Given the description of an element on the screen output the (x, y) to click on. 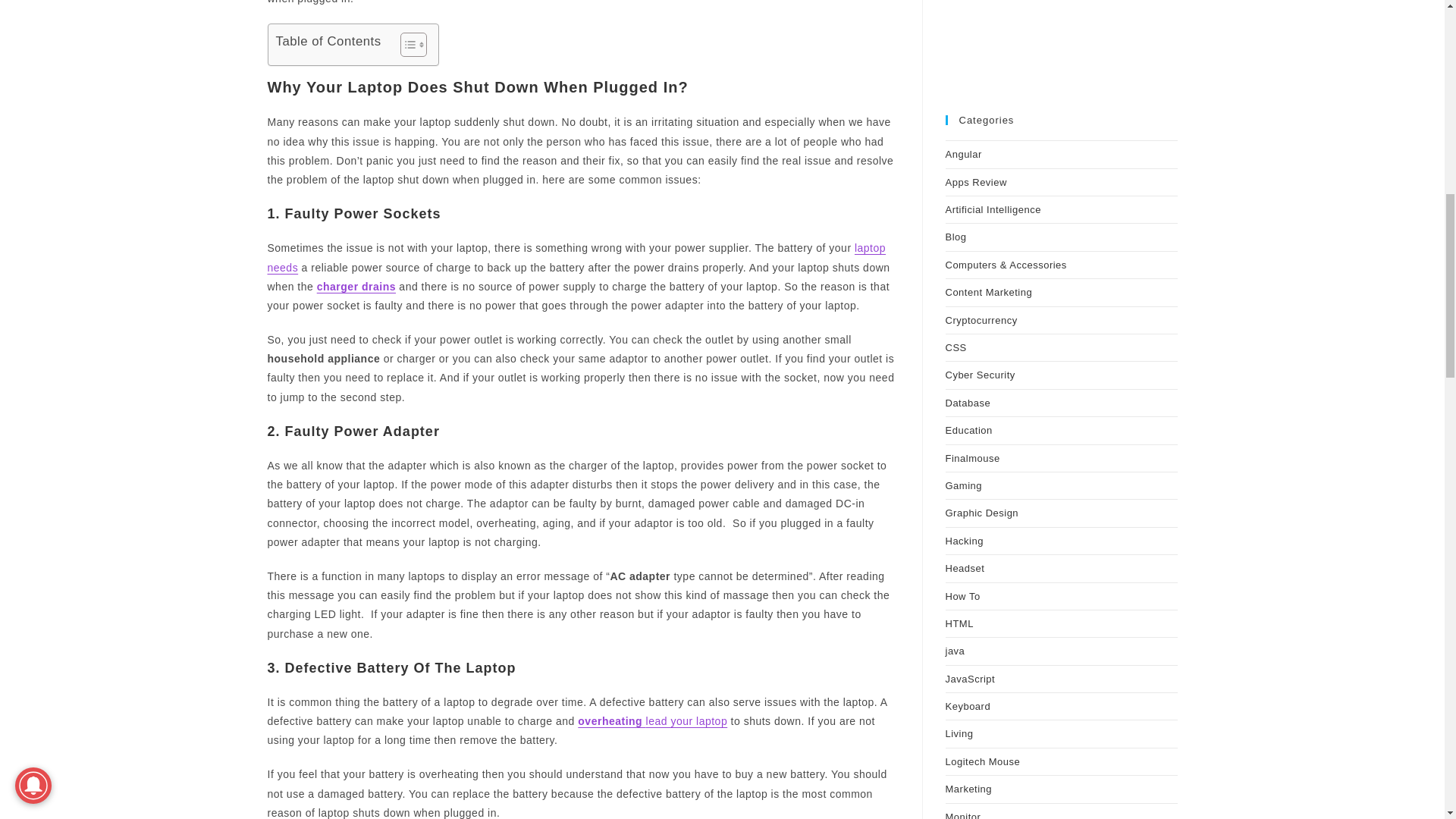
Advertisement (1060, 33)
